Given the description of an element on the screen output the (x, y) to click on. 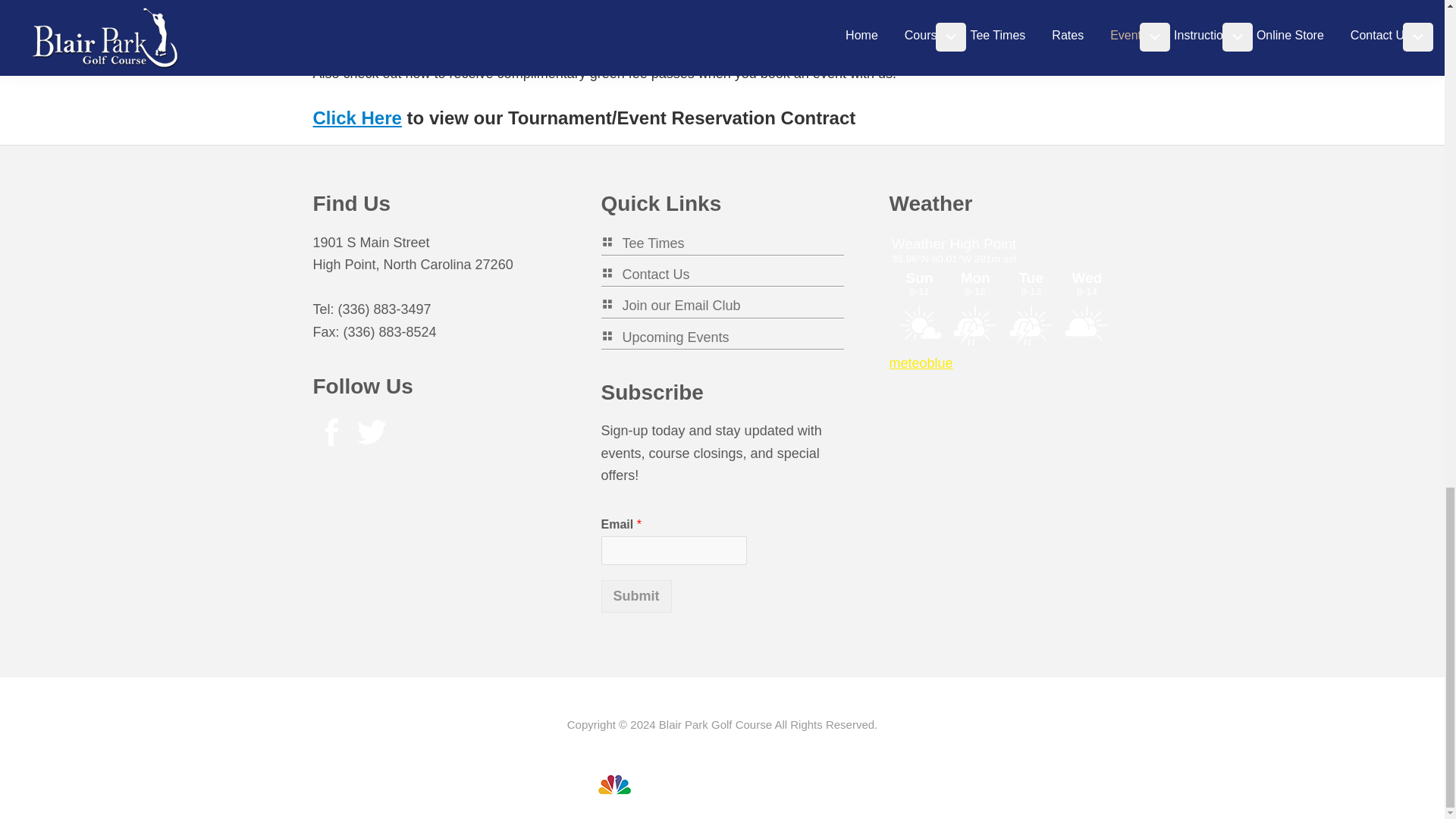
Contact Us (643, 273)
Click Here (357, 117)
Tee Times (641, 242)
Upcoming Events (664, 337)
Submit (635, 595)
Join our Email Club (669, 305)
